Given the description of an element on the screen output the (x, y) to click on. 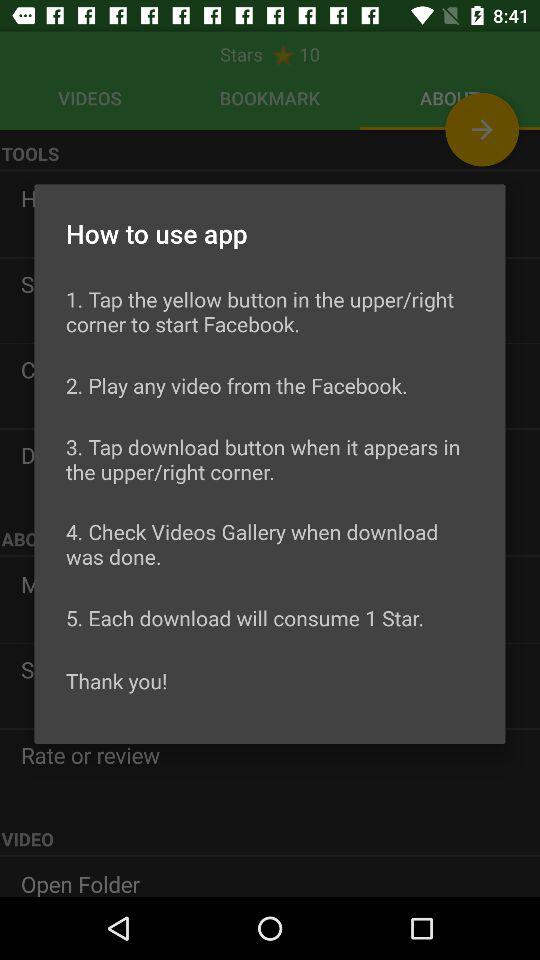
select the item at the bottom left corner (116, 680)
